Given the description of an element on the screen output the (x, y) to click on. 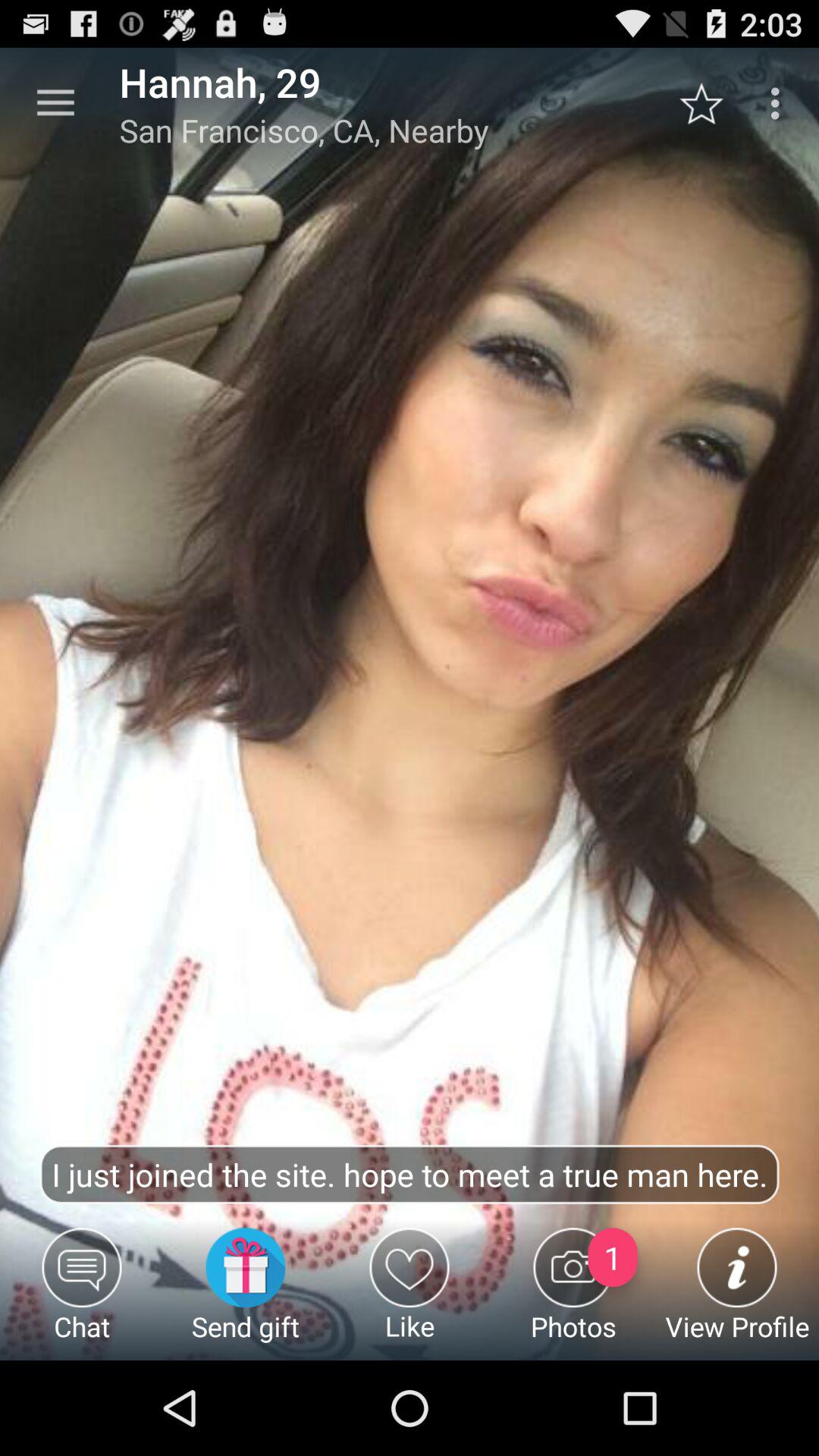
press item next to the chat (245, 1293)
